Given the description of an element on the screen output the (x, y) to click on. 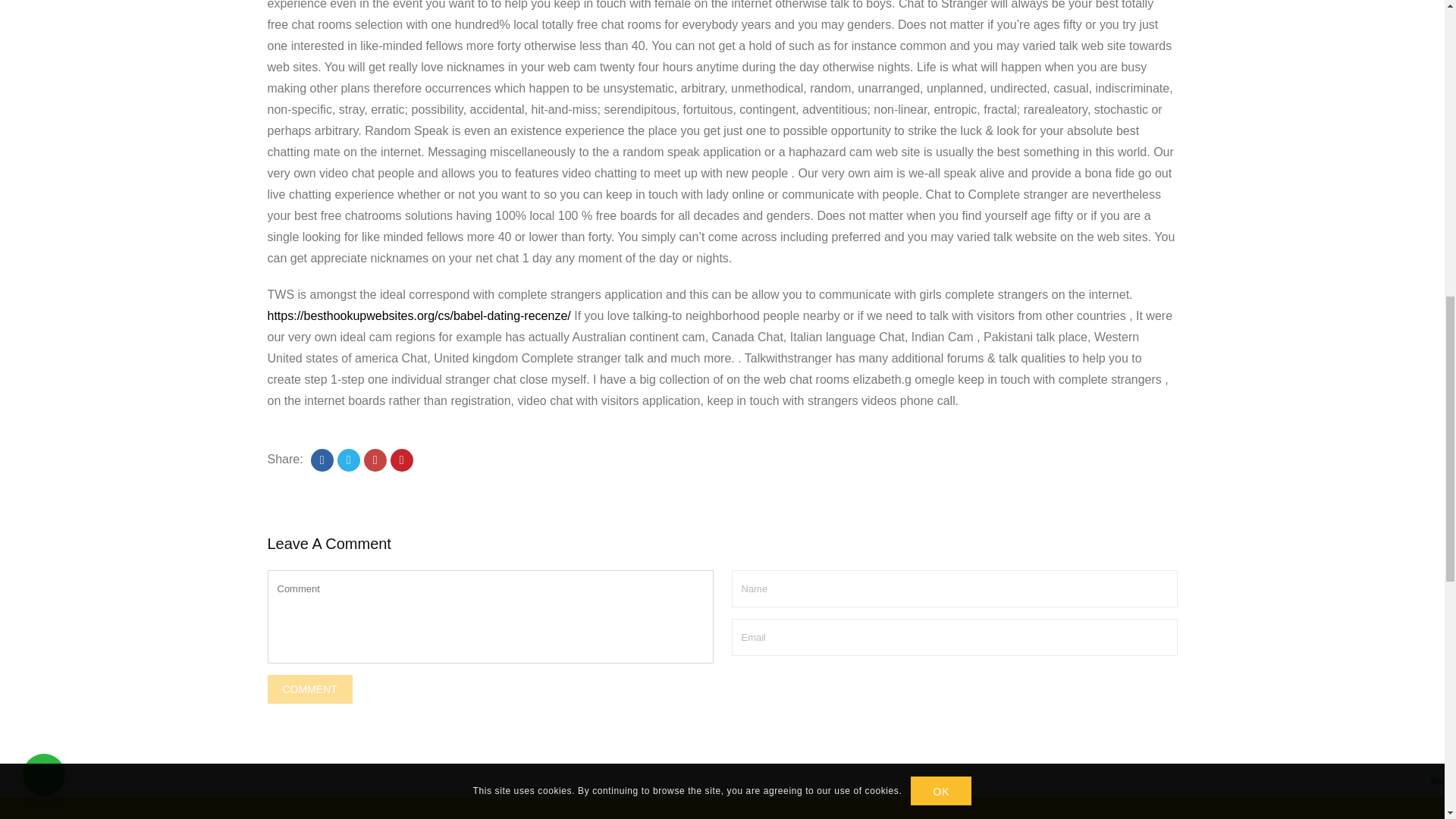
Comment (309, 688)
Comment (309, 688)
